Given the description of an element on the screen output the (x, y) to click on. 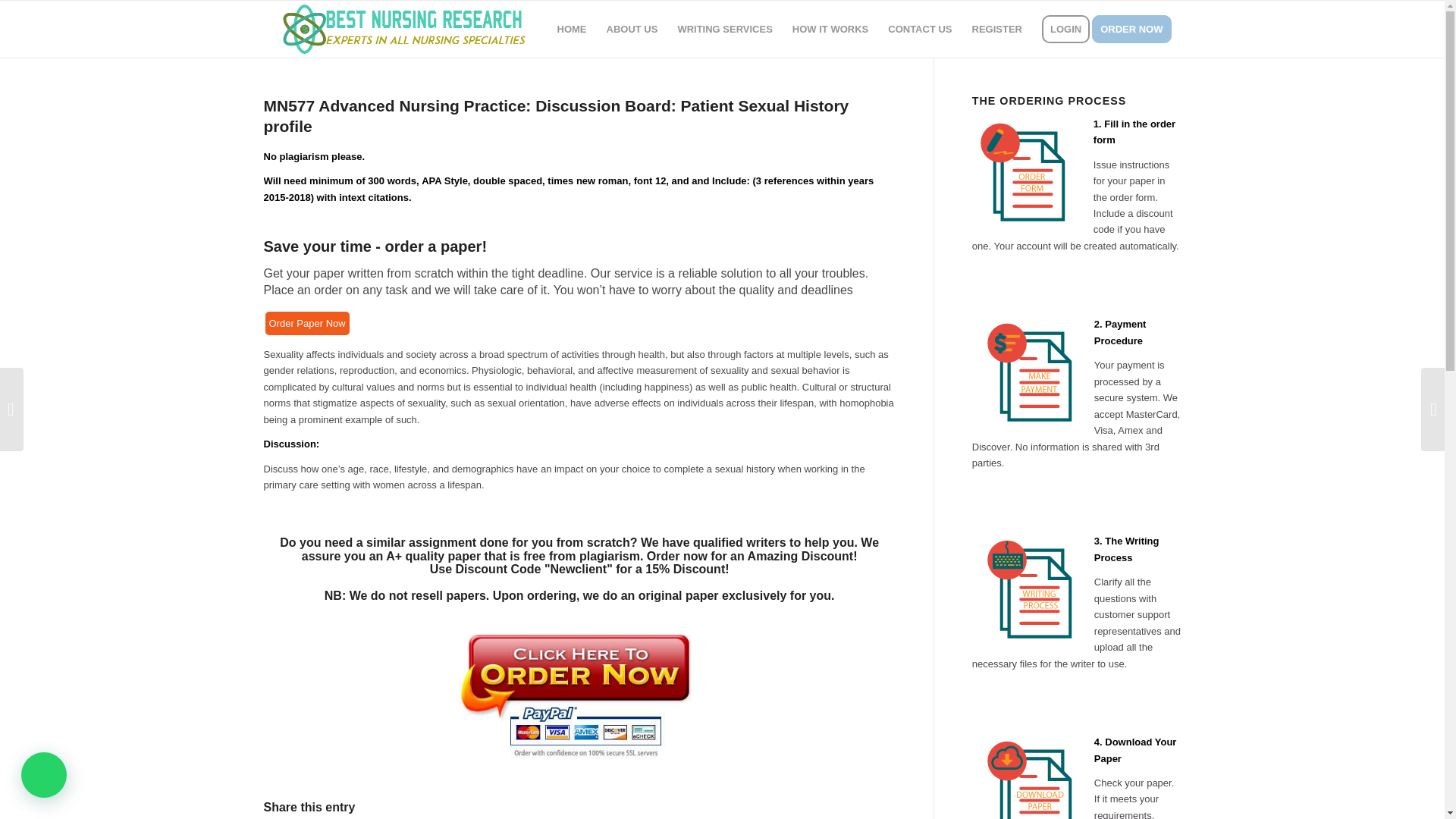
Order Paper Now (306, 323)
CONTACT US (918, 28)
ABOUT US (632, 28)
HOW IT WORKS (830, 28)
ORDER NOW (1136, 28)
WRITING SERVICES (723, 28)
LOGIN (1065, 28)
REGISTER (997, 28)
